Given the description of an element on the screen output the (x, y) to click on. 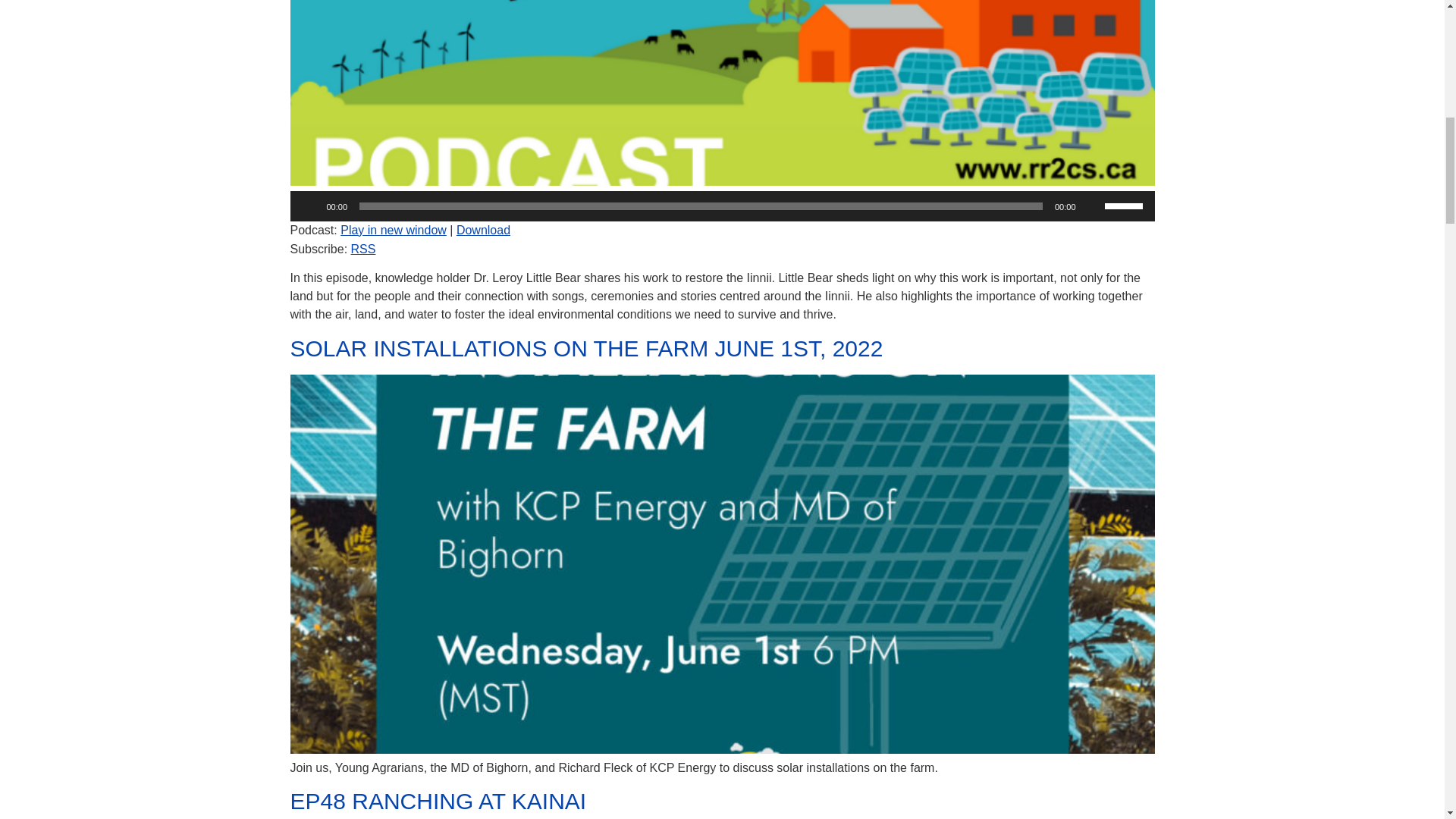
Mute (1091, 206)
Play in new window (393, 229)
RSS (362, 248)
SOLAR INSTALLATIONS ON THE FARM JUNE 1ST, 2022 (585, 348)
Play in new window (393, 229)
Download (484, 229)
Download (484, 229)
EP48 RANCHING AT KAINAI (437, 801)
Play (309, 206)
Subscribe via RSS (362, 248)
